Given the description of an element on the screen output the (x, y) to click on. 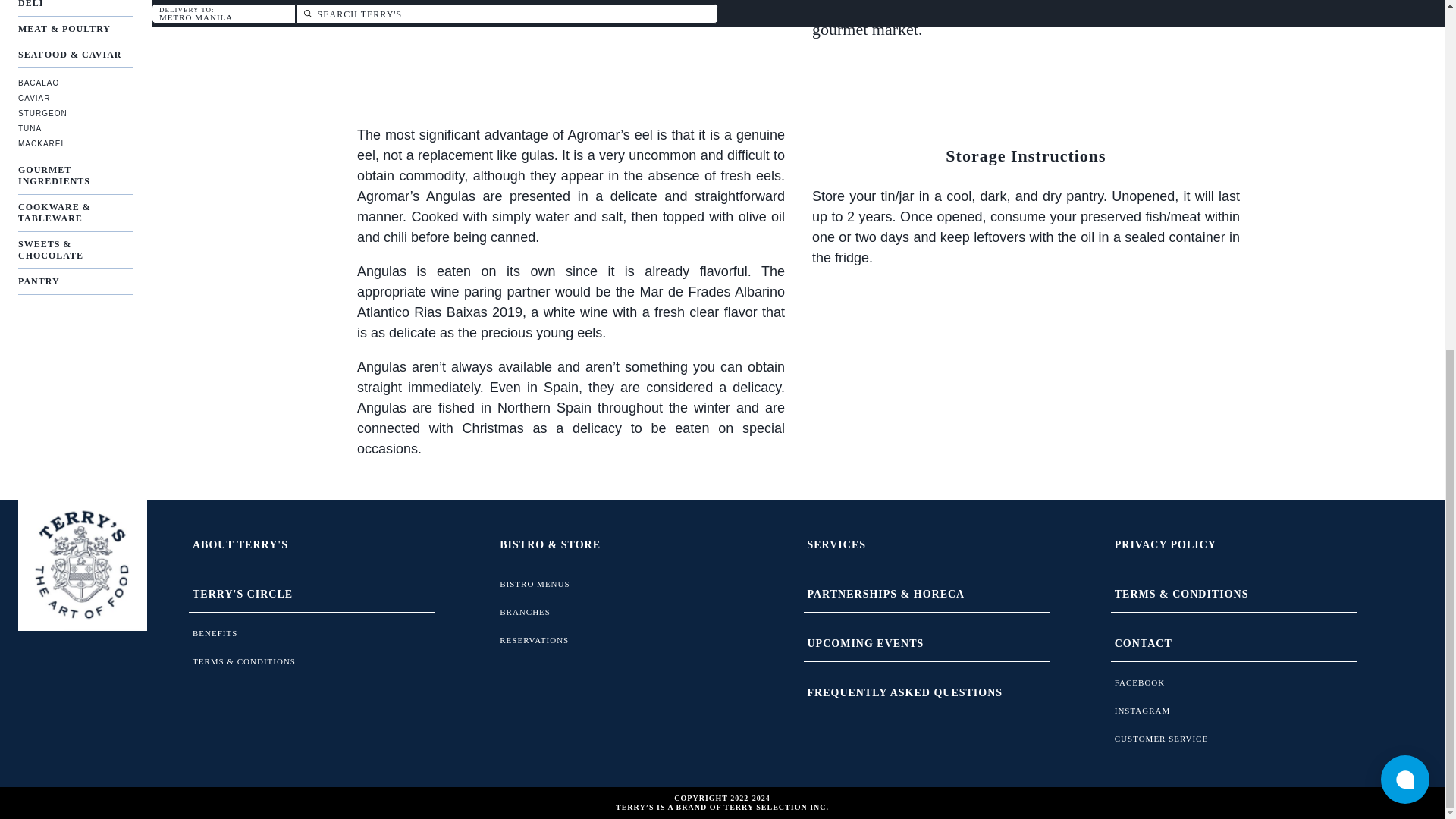
MACKAREL (75, 143)
TERRY'S CIRCLE (311, 594)
Online Deli and Groceries at Terry Selection Manila (82, 565)
BENEFITS (311, 633)
GOURMET INGREDIENTS (75, 176)
TUNA (75, 128)
CAVIAR (75, 98)
ABOUT TERRY'S (311, 545)
STURGEON (75, 112)
DELI (75, 8)
PANTRY (75, 281)
BACALAO (75, 82)
Open chat window (1404, 175)
